Given the description of an element on the screen output the (x, y) to click on. 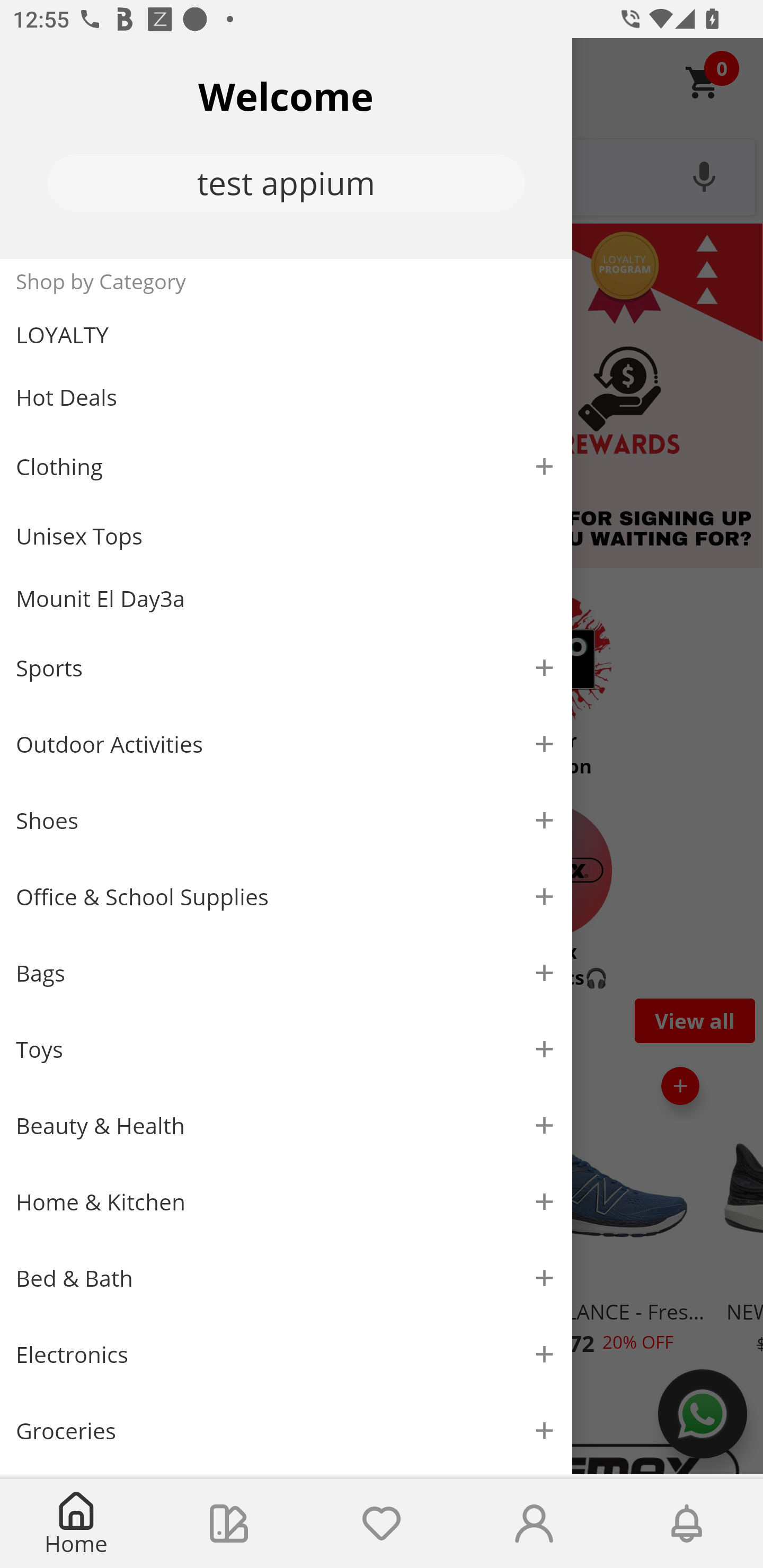
Welcome test appium (286, 147)
Welcome test appium (286, 147)
Welcome test appium (286, 147)
LOYALTY (286, 334)
Hot Deals (286, 396)
Clothing (286, 466)
Unisex Tops (286, 535)
Mounit El Day3a (286, 598)
Sports (286, 667)
Outdoor Activities (286, 743)
Shoes (286, 820)
Office & School Supplies (286, 896)
Bags (286, 972)
Toys (286, 1049)
Beauty & Health (286, 1125)
Home & Kitchen (286, 1201)
Bed & Bath (286, 1278)
Electronics (286, 1354)
Groceries (286, 1430)
Collections (228, 1523)
Wishlist (381, 1523)
My Account (533, 1523)
Notifications (686, 1523)
